Given the description of an element on the screen output the (x, y) to click on. 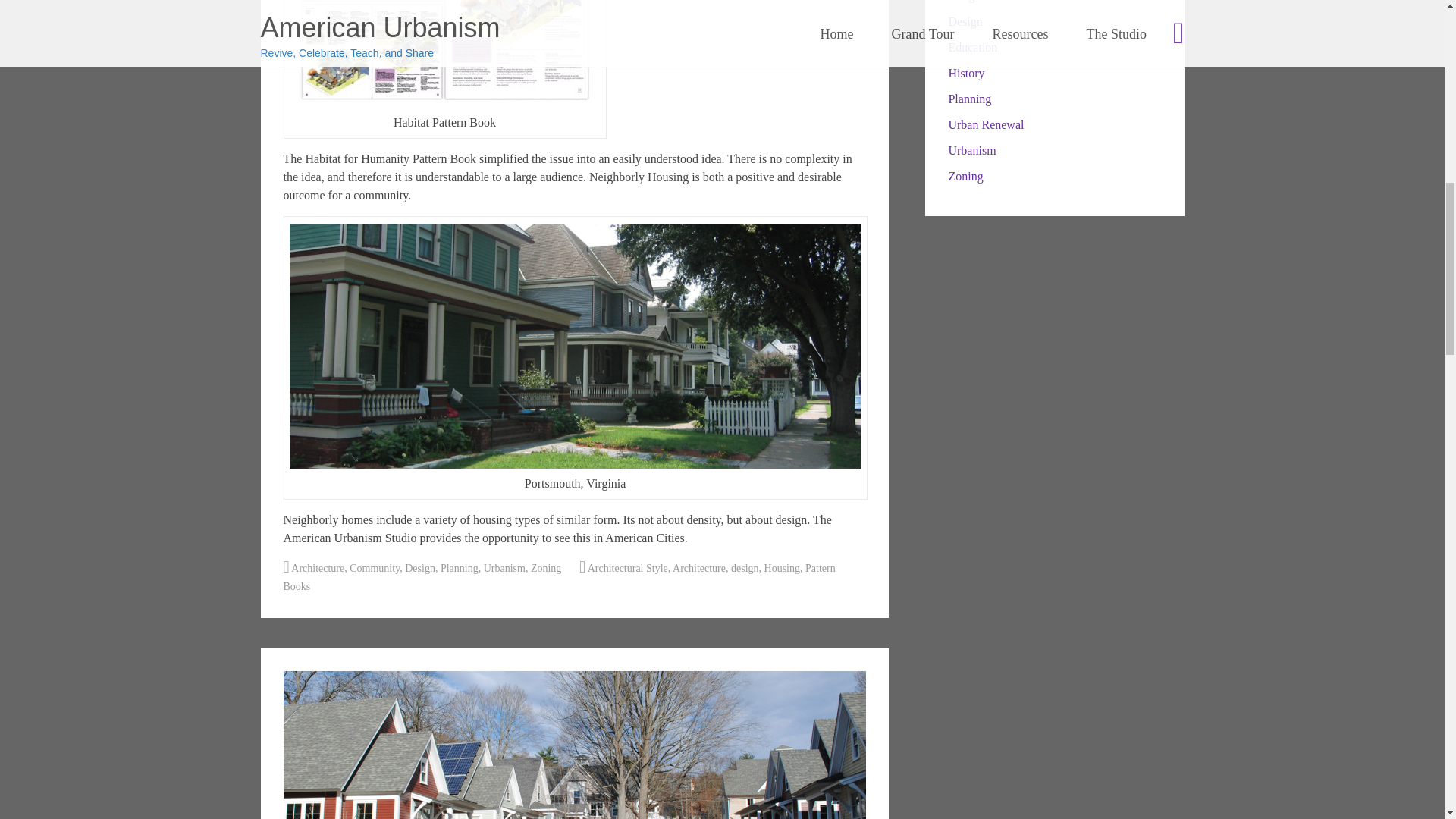
Architecture (317, 568)
Design (419, 568)
Planning (460, 568)
Architectural Style (628, 568)
Urbanism (504, 568)
Architecture (698, 568)
Zoning (545, 568)
Pattern Books (559, 577)
Community (373, 568)
Housing (781, 568)
design (744, 568)
The New Tradition (574, 744)
